Given the description of an element on the screen output the (x, y) to click on. 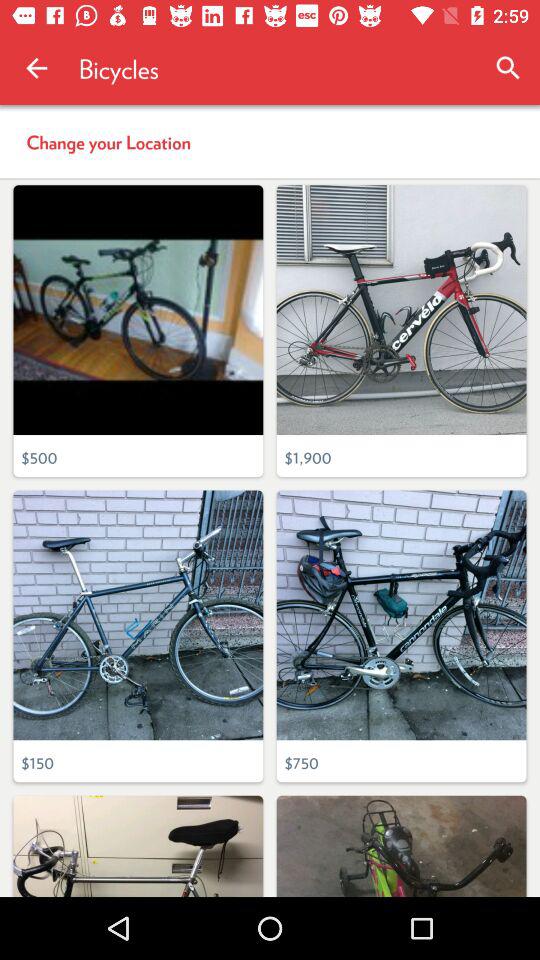
tap the app next to bicycles item (36, 68)
